Given the description of an element on the screen output the (x, y) to click on. 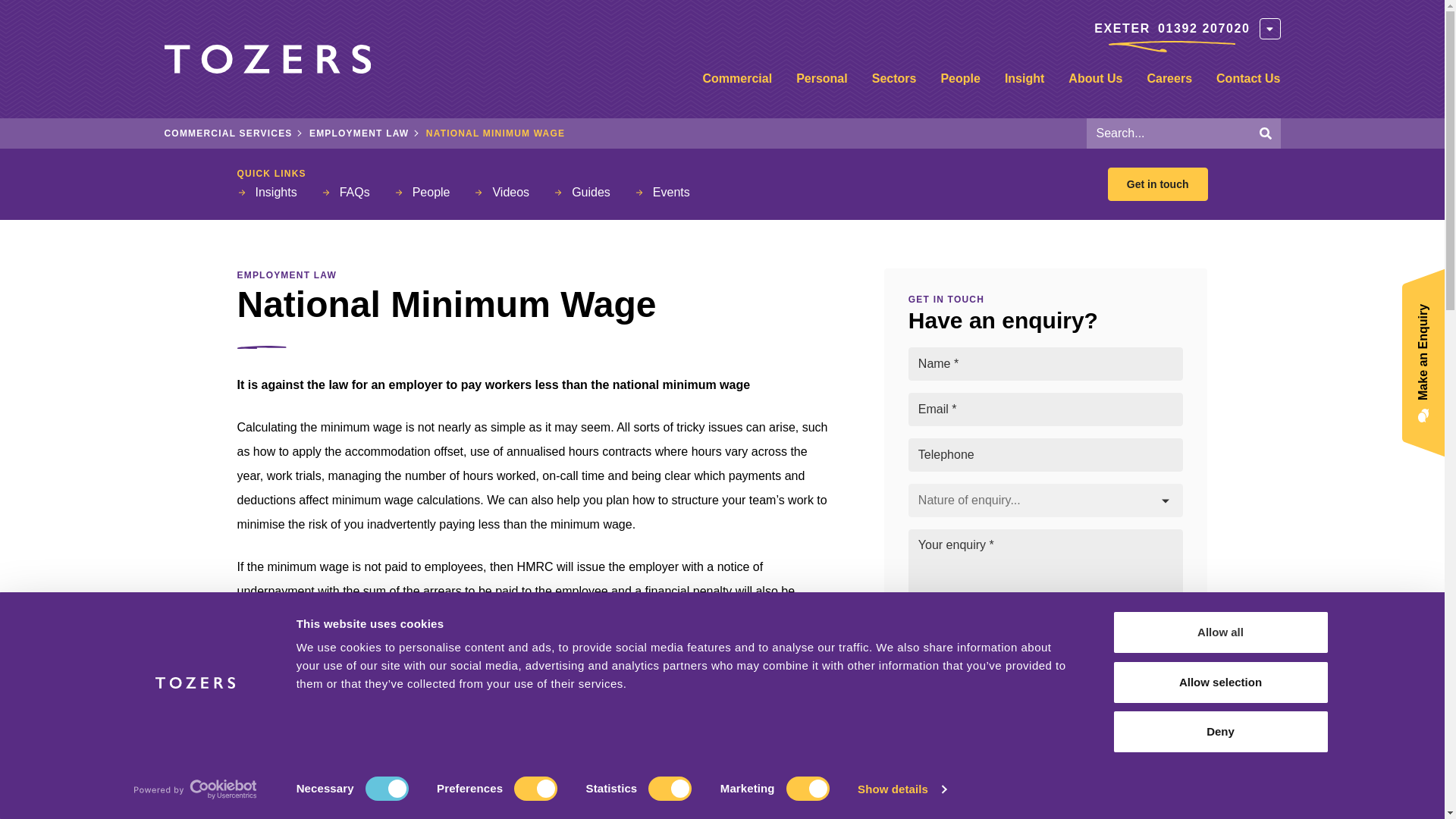
Show details (900, 789)
Email (914, 744)
on (914, 787)
Telephone (978, 744)
